Given the description of an element on the screen output the (x, y) to click on. 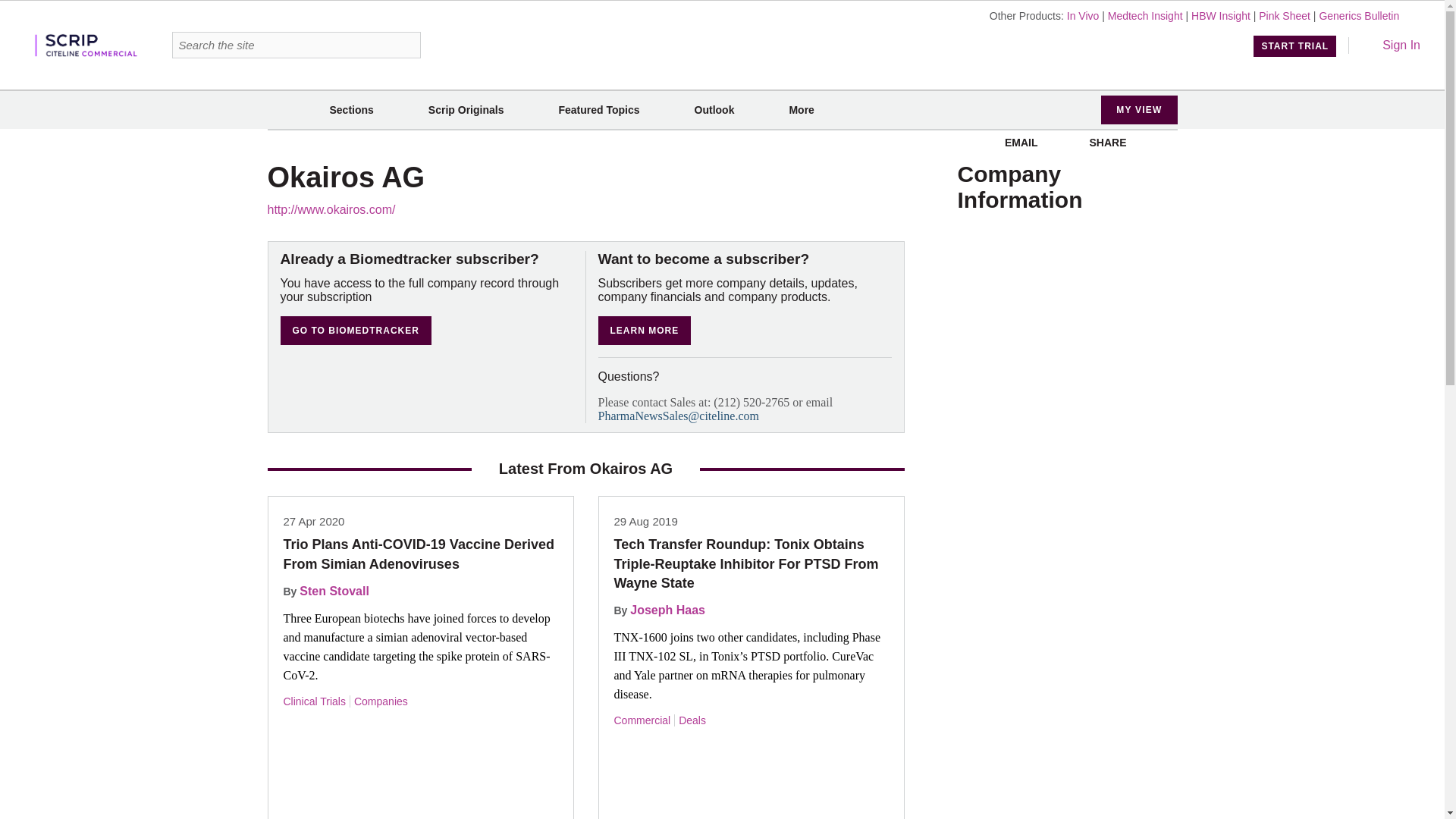
START TRIAL (1294, 46)
Pink Sheet (1284, 15)
HBW Insight (1220, 15)
Generics Bulletin (1359, 15)
In Vivo (1083, 15)
Sign In (1391, 44)
Medtech Insight (1145, 15)
